Given the description of an element on the screen output the (x, y) to click on. 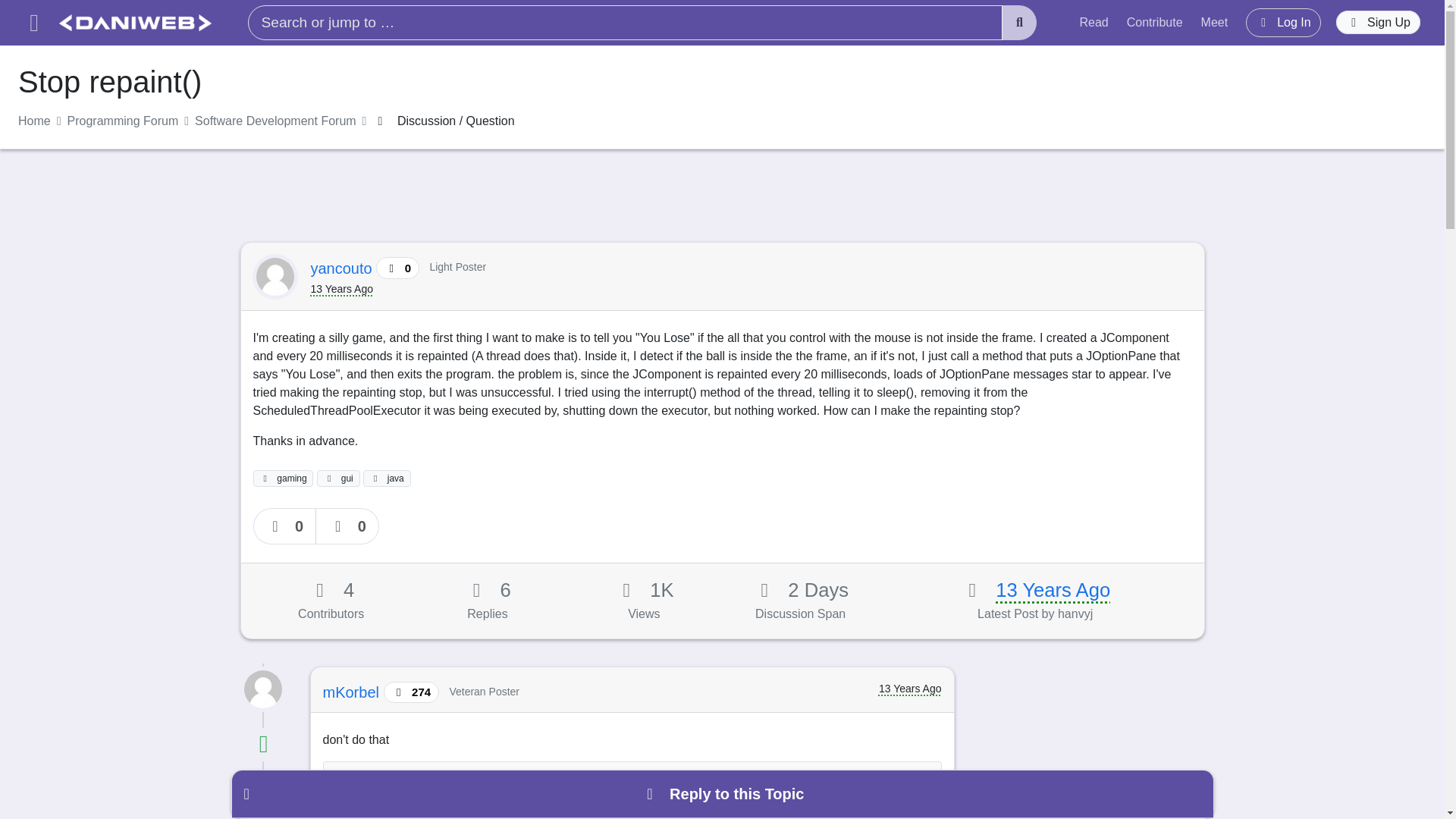
Software Development Forum (275, 120)
Log In (1283, 22)
mKorbel (353, 692)
gaming (283, 478)
java (386, 478)
DaniWeb (135, 22)
Programming Forum (122, 120)
Sign Up (1378, 22)
0 (285, 525)
13 Years Ago (1052, 589)
